Given the description of an element on the screen output the (x, y) to click on. 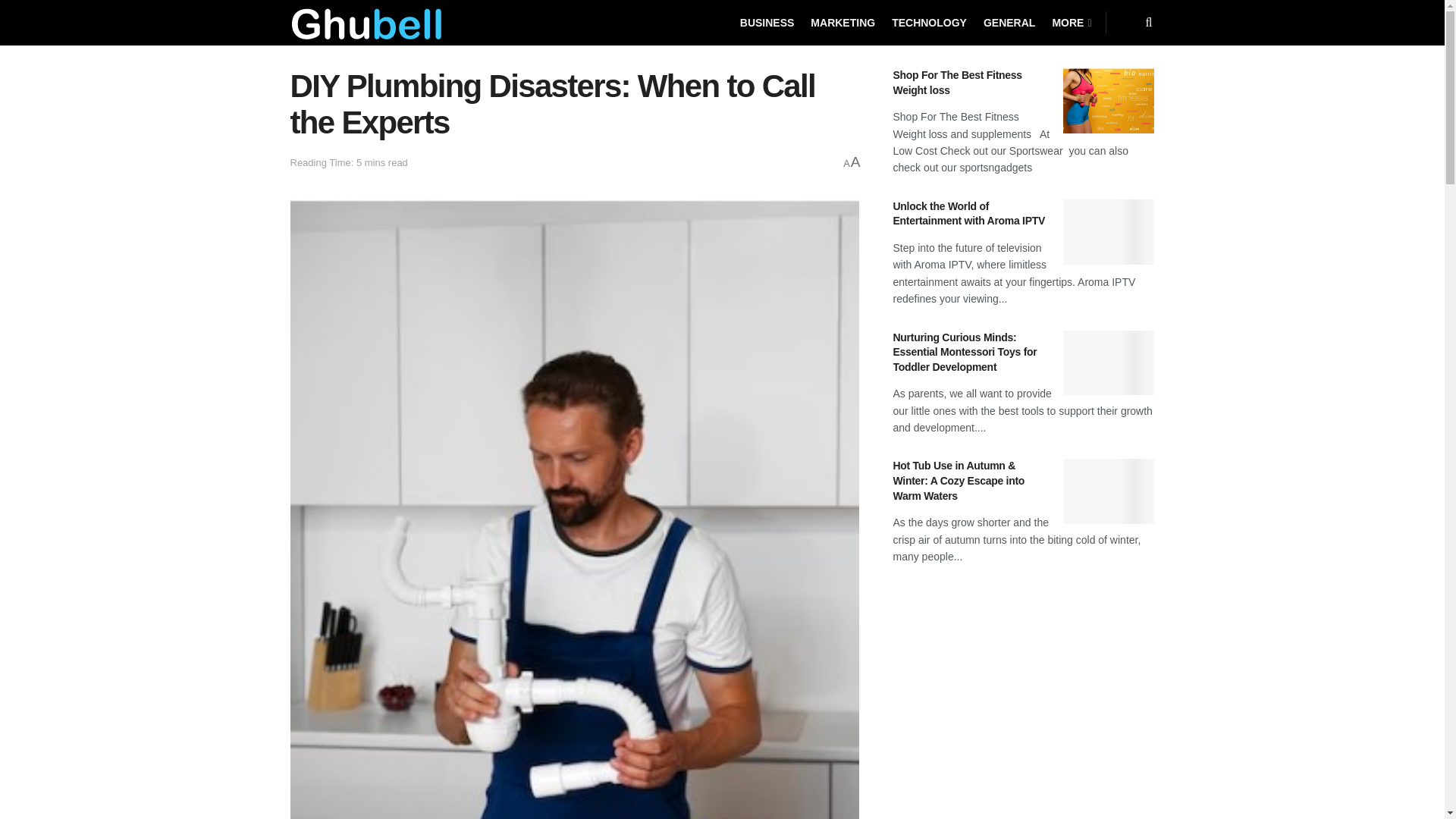
BUSINESS (766, 22)
GENERAL (1009, 22)
TECHNOLOGY (928, 22)
MARKETING (842, 22)
